Given the description of an element on the screen output the (x, y) to click on. 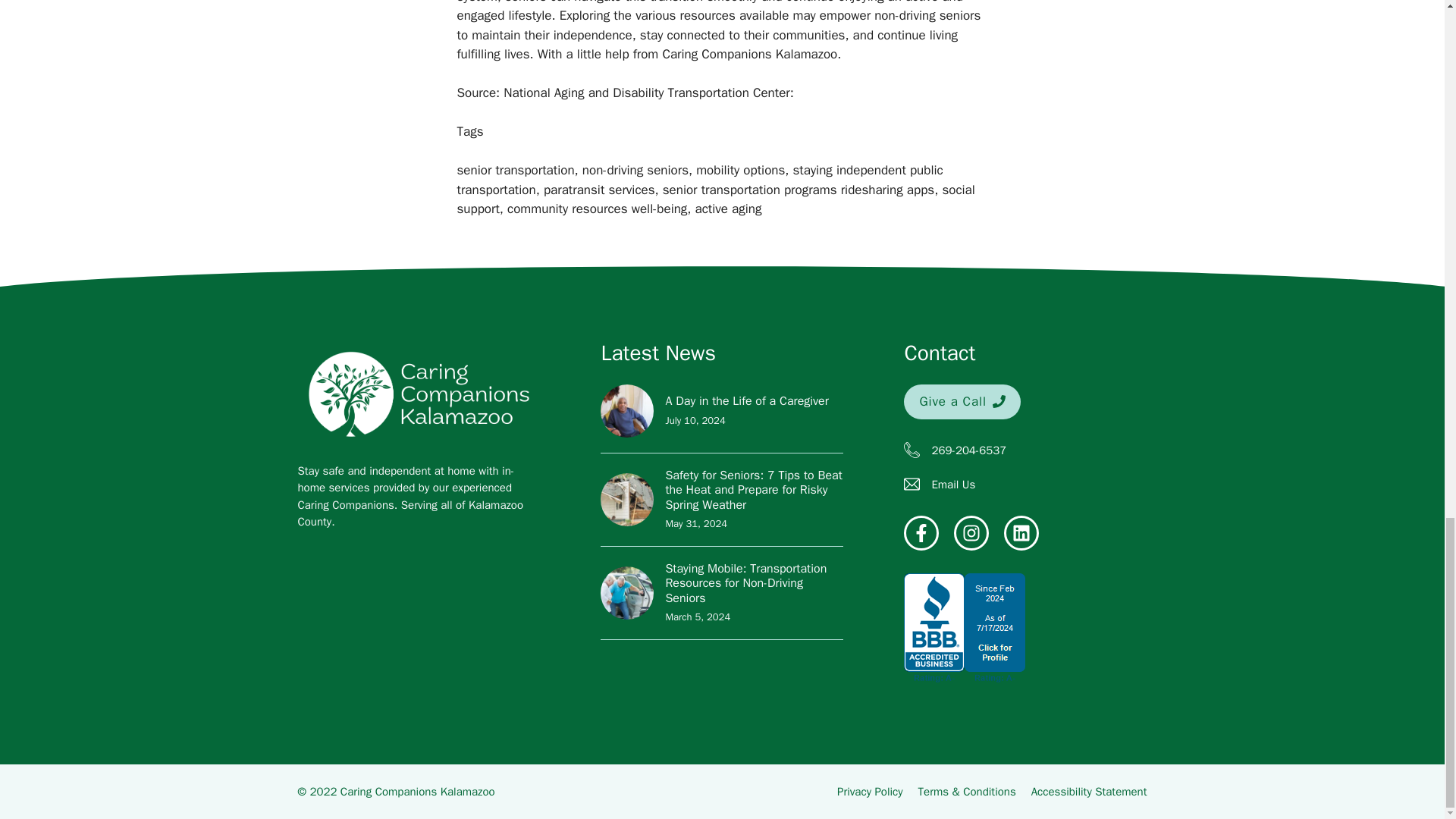
Privacy Policy (869, 791)
Accessibility Statement (1088, 791)
Email Us (953, 484)
269-204-6537 (968, 450)
Give a Call (962, 401)
A Day in the Life of a Caregiver (746, 400)
